Given the description of an element on the screen output the (x, y) to click on. 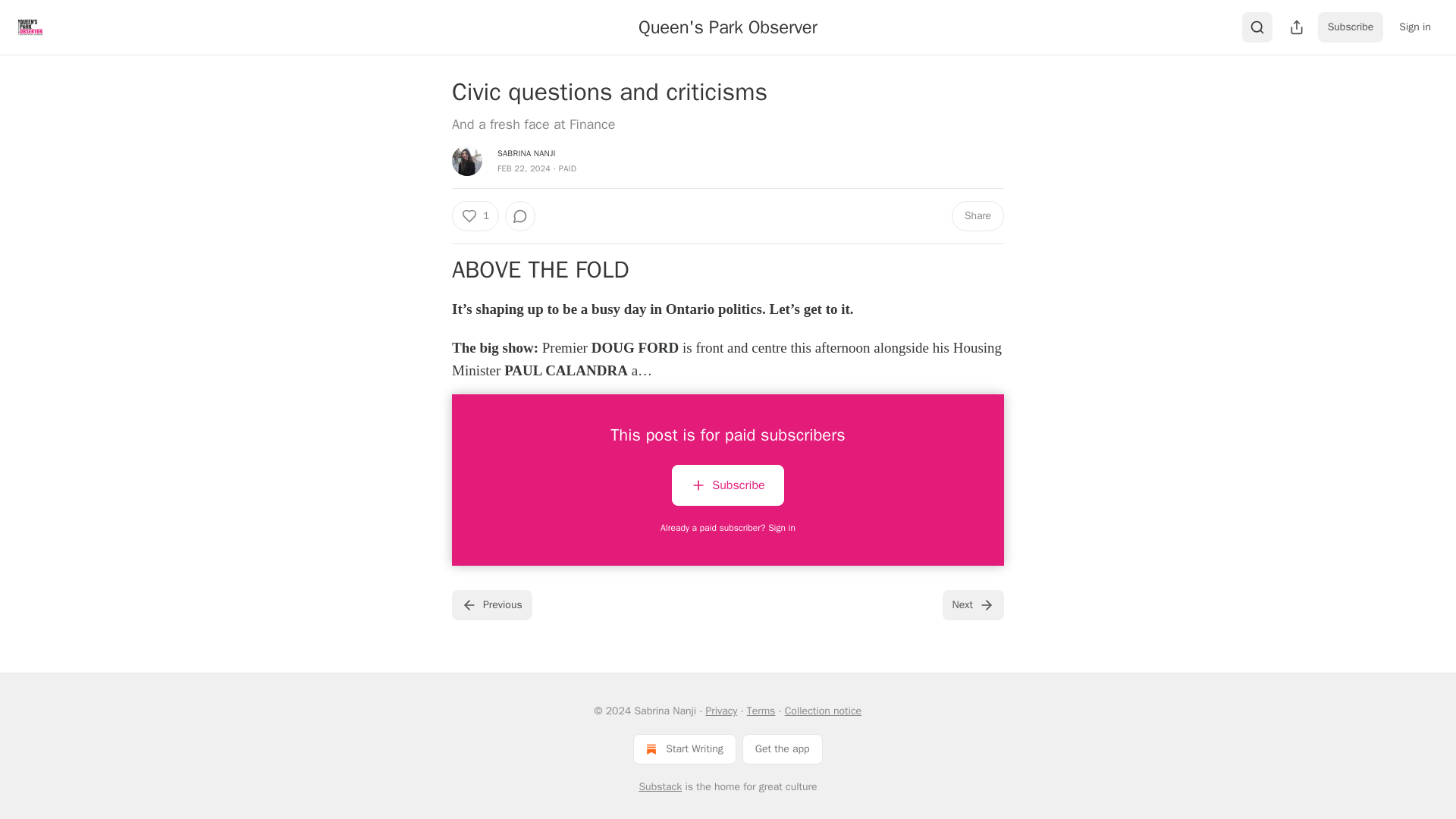
Get the app (782, 748)
Queen's Park Observer (727, 26)
Substack (660, 786)
Already a paid subscriber? Sign in (727, 527)
Privacy (720, 710)
Terms (761, 710)
Previous (491, 604)
Sign in (1415, 27)
Next (973, 604)
Start Writing (684, 748)
1 (475, 215)
Subscribe (727, 485)
Subscribe (1350, 27)
Collection notice (822, 710)
Share (978, 215)
